Given the description of an element on the screen output the (x, y) to click on. 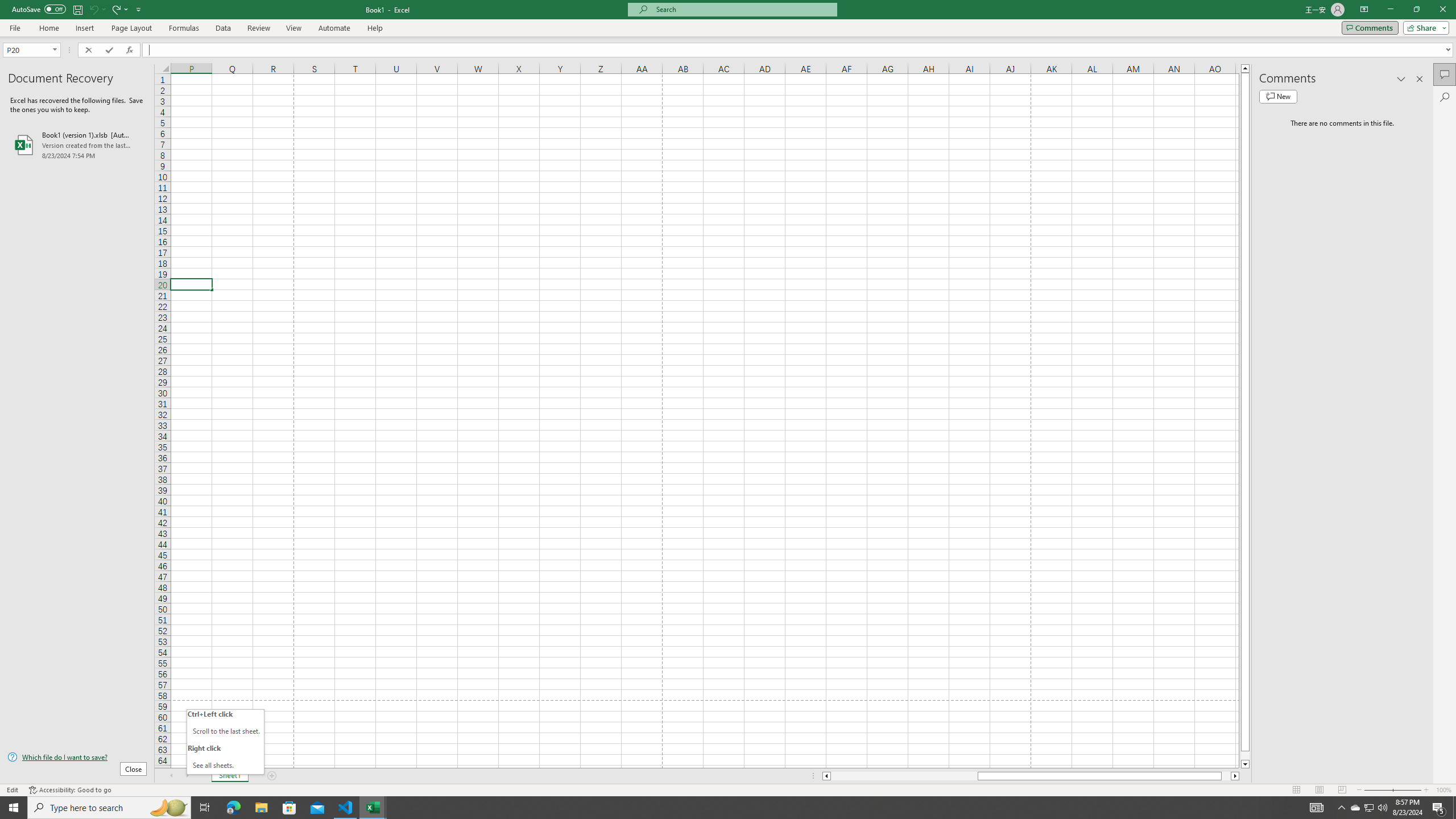
Add Sheet (272, 775)
More Options (125, 9)
Class: NetUIScrollBar (1030, 775)
Customize Quick Access Toolbar (139, 9)
Name Box (27, 49)
Comments (1444, 74)
Column left (826, 775)
Page right (1225, 775)
Line down (1245, 764)
Formula Bar (799, 49)
Page Break Preview (1342, 790)
Accessibility Checker Accessibility: Good to go (70, 790)
Restore Down (1416, 9)
